Given the description of an element on the screen output the (x, y) to click on. 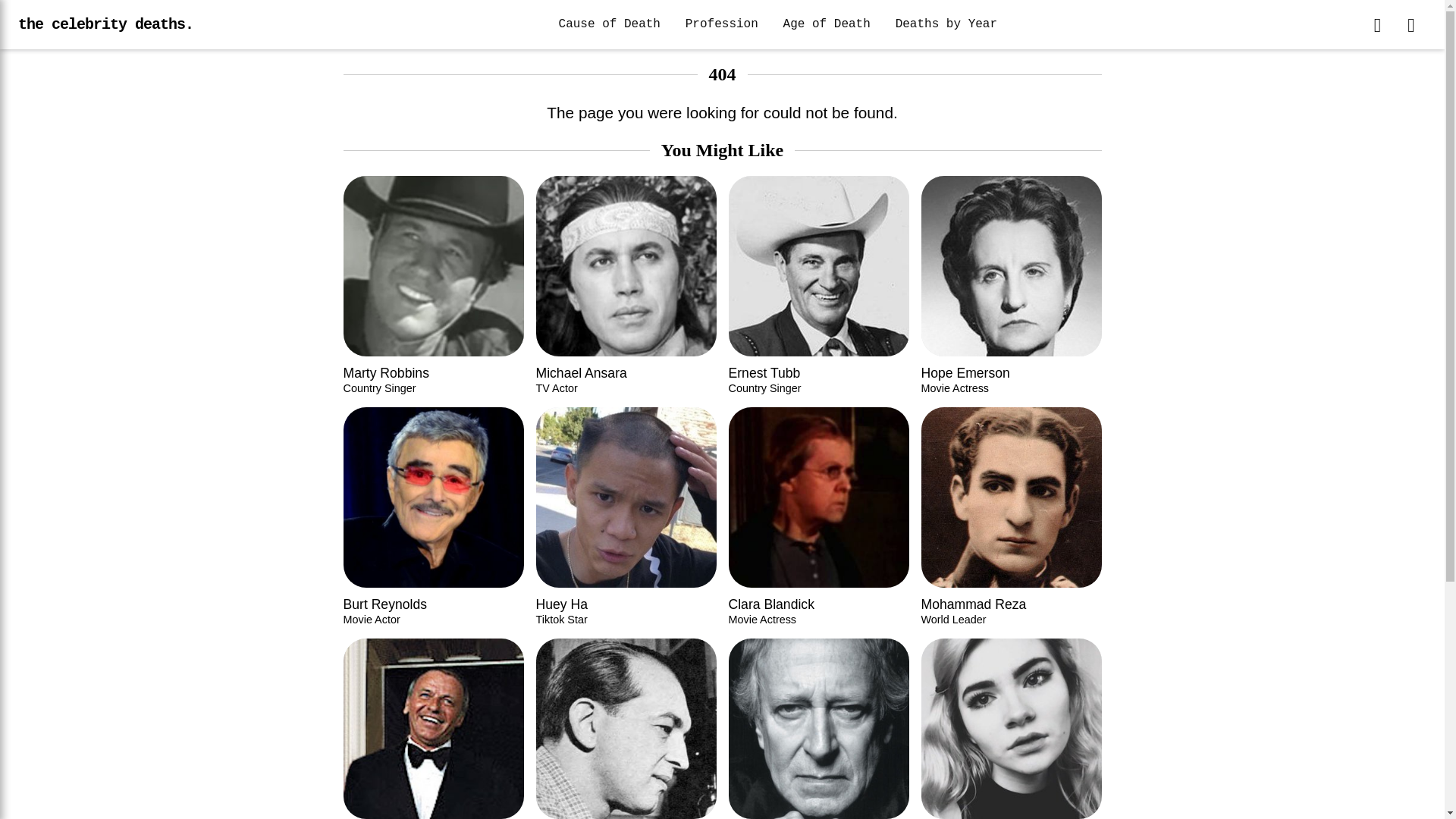
Percy Faith (625, 728)
the celebrity deaths. (105, 24)
Cause of Death (610, 24)
Profession (721, 24)
Age of Death (826, 24)
Cloveress (625, 728)
John Barry (1010, 728)
Deaths by Year (432, 728)
Frank Sinatra (818, 728)
